Given the description of an element on the screen output the (x, y) to click on. 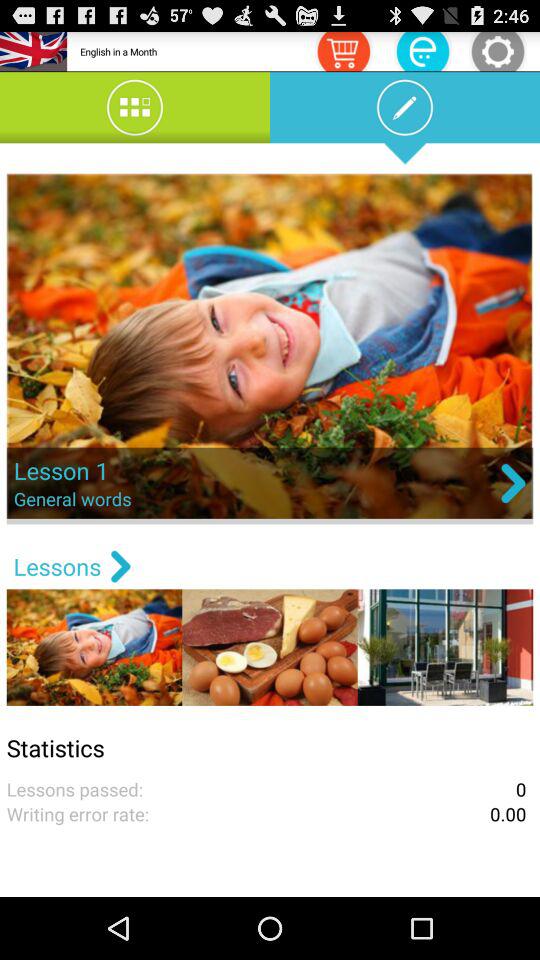
turn on app above lessons app (269, 348)
